Given the description of an element on the screen output the (x, y) to click on. 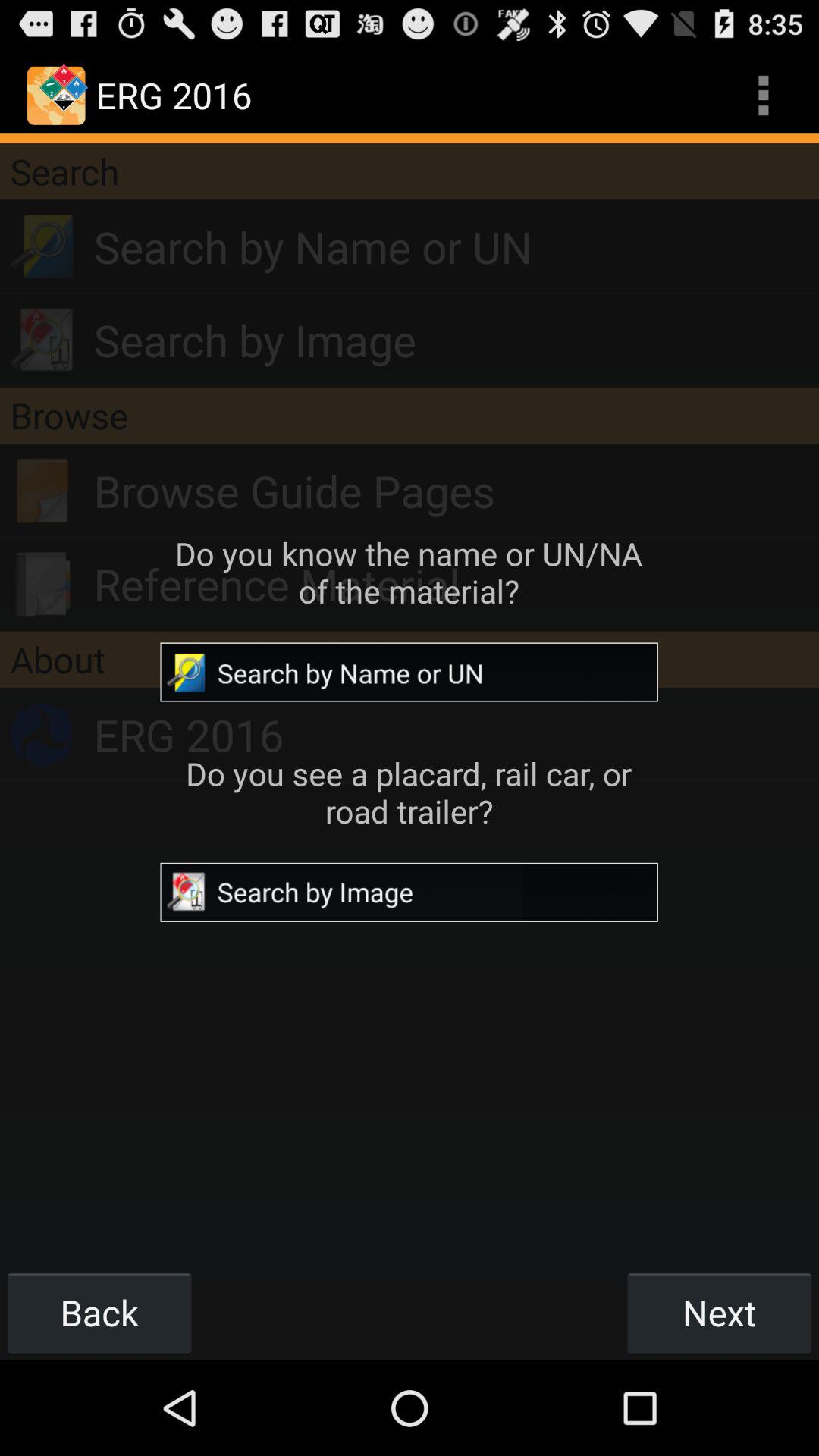
jump until the about icon (409, 659)
